Given the description of an element on the screen output the (x, y) to click on. 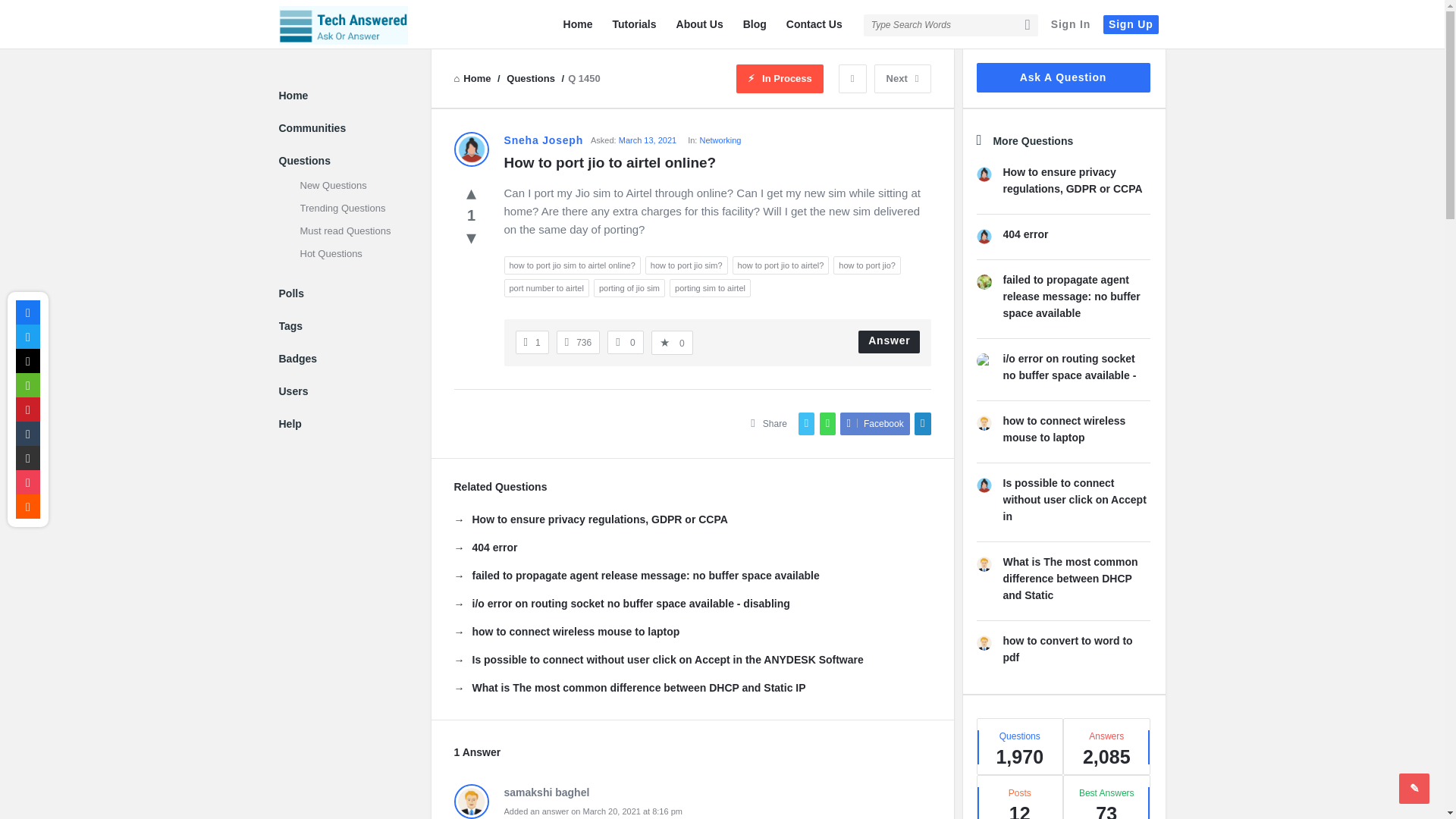
Blog (754, 24)
Home (472, 78)
404 error (484, 547)
How to ensure privacy regulations, GDPR or CCPA (589, 519)
Sign Up (1130, 24)
Home (577, 24)
Sneha Joseph (470, 149)
Contact Us (814, 24)
Questions (531, 78)
Sign In (1070, 24)
Home (472, 78)
Tech Answered (343, 25)
Tutorials (633, 24)
About Us (699, 24)
Next (903, 78)
